Given the description of an element on the screen output the (x, y) to click on. 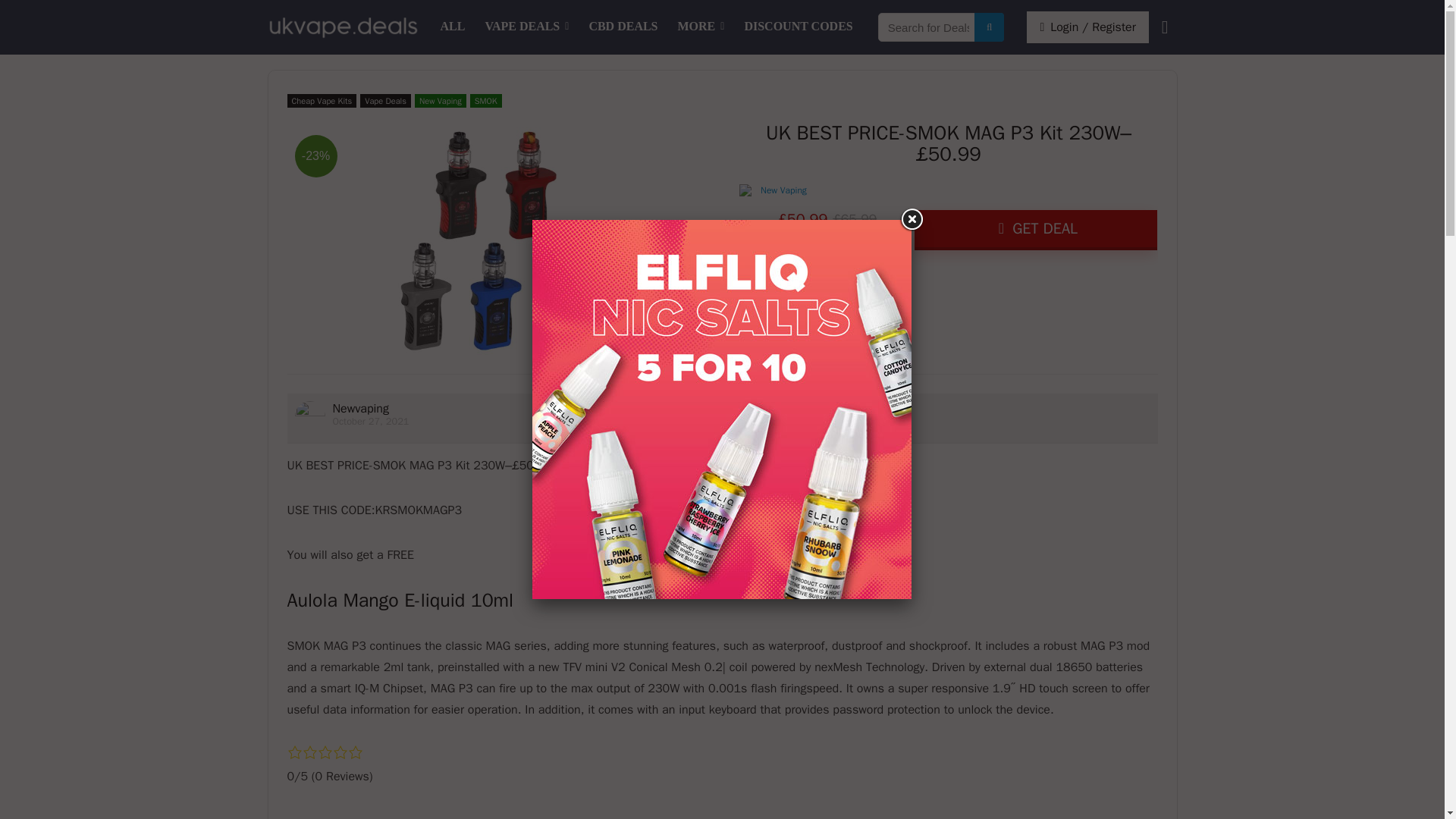
CBD Deals UK (622, 27)
VAPE DEALS (526, 27)
UK Vape Deals  (453, 27)
CBD DEALS (622, 27)
Cheap Vape Kits (321, 100)
GET DEAL (1035, 229)
View all posts in Vape Deals (384, 100)
SMOK (486, 100)
MORE (701, 27)
New Vaping (439, 100)
View all posts in Cheap Vape Kits (321, 100)
Newvaping (359, 408)
Vape Deals (384, 100)
ALL (453, 27)
Vape Deals (526, 27)
